Given the description of an element on the screen output the (x, y) to click on. 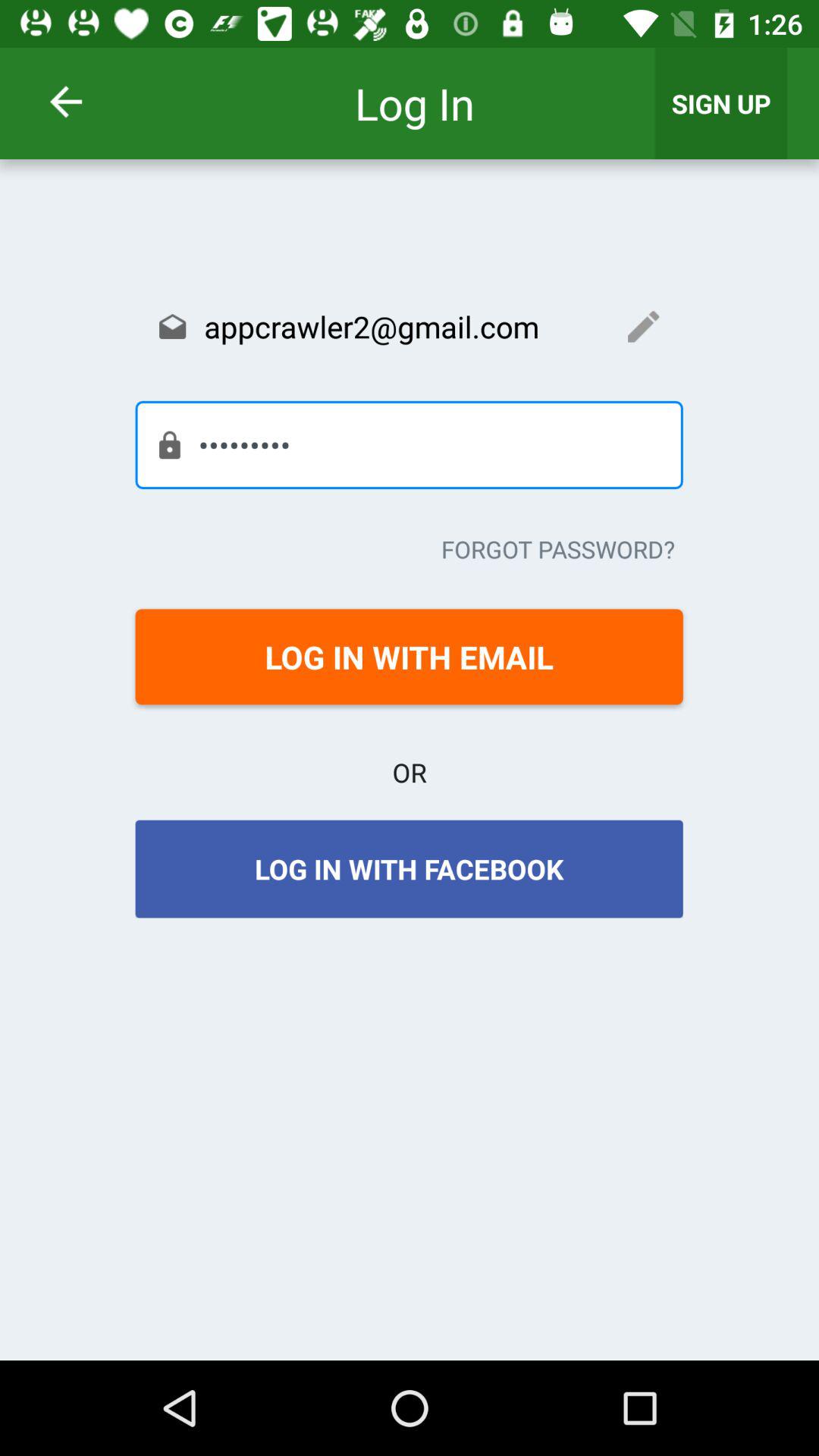
press the crowd3116 (409, 444)
